Given the description of an element on the screen output the (x, y) to click on. 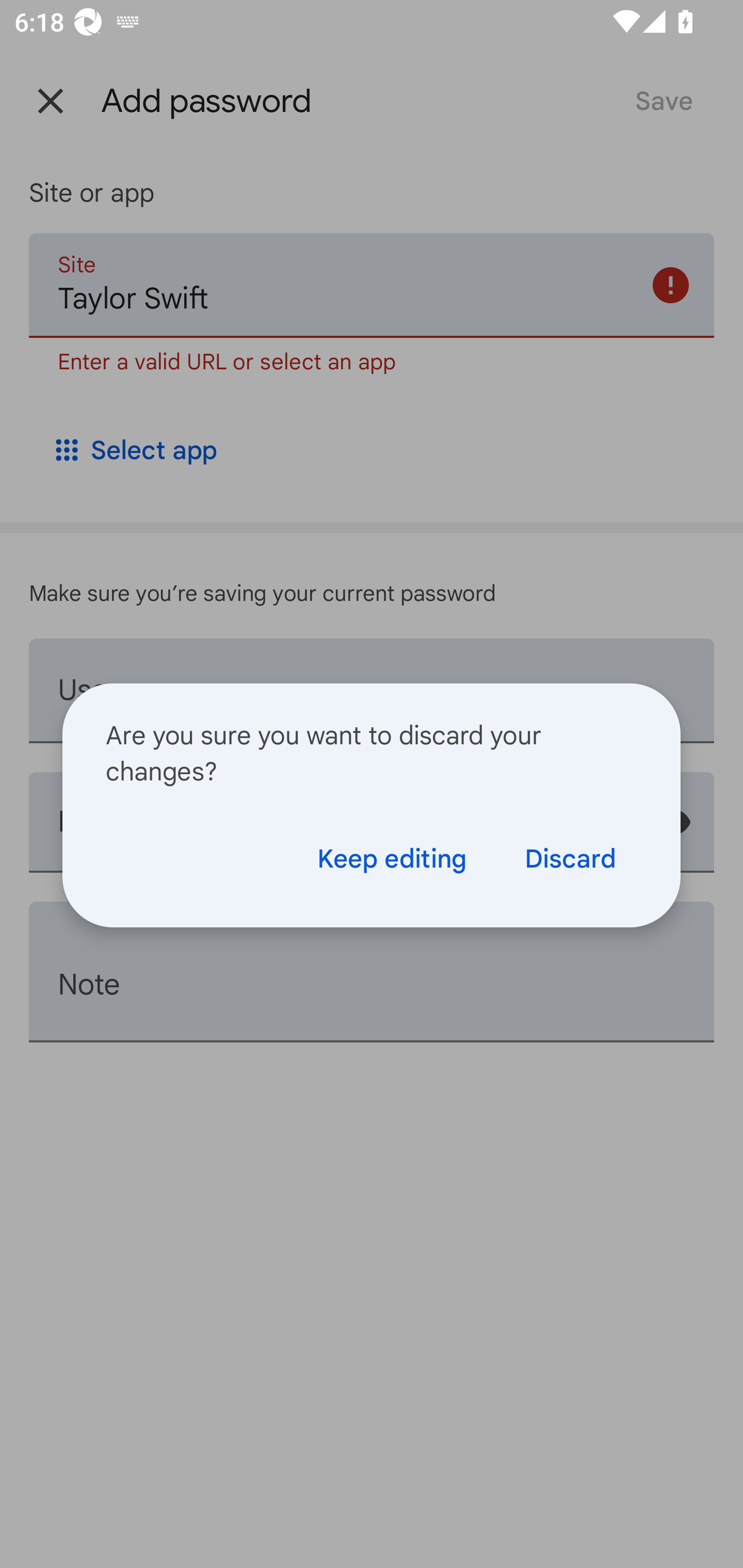
Keep editing (391, 858)
Discard (569, 858)
